Given the description of an element on the screen output the (x, y) to click on. 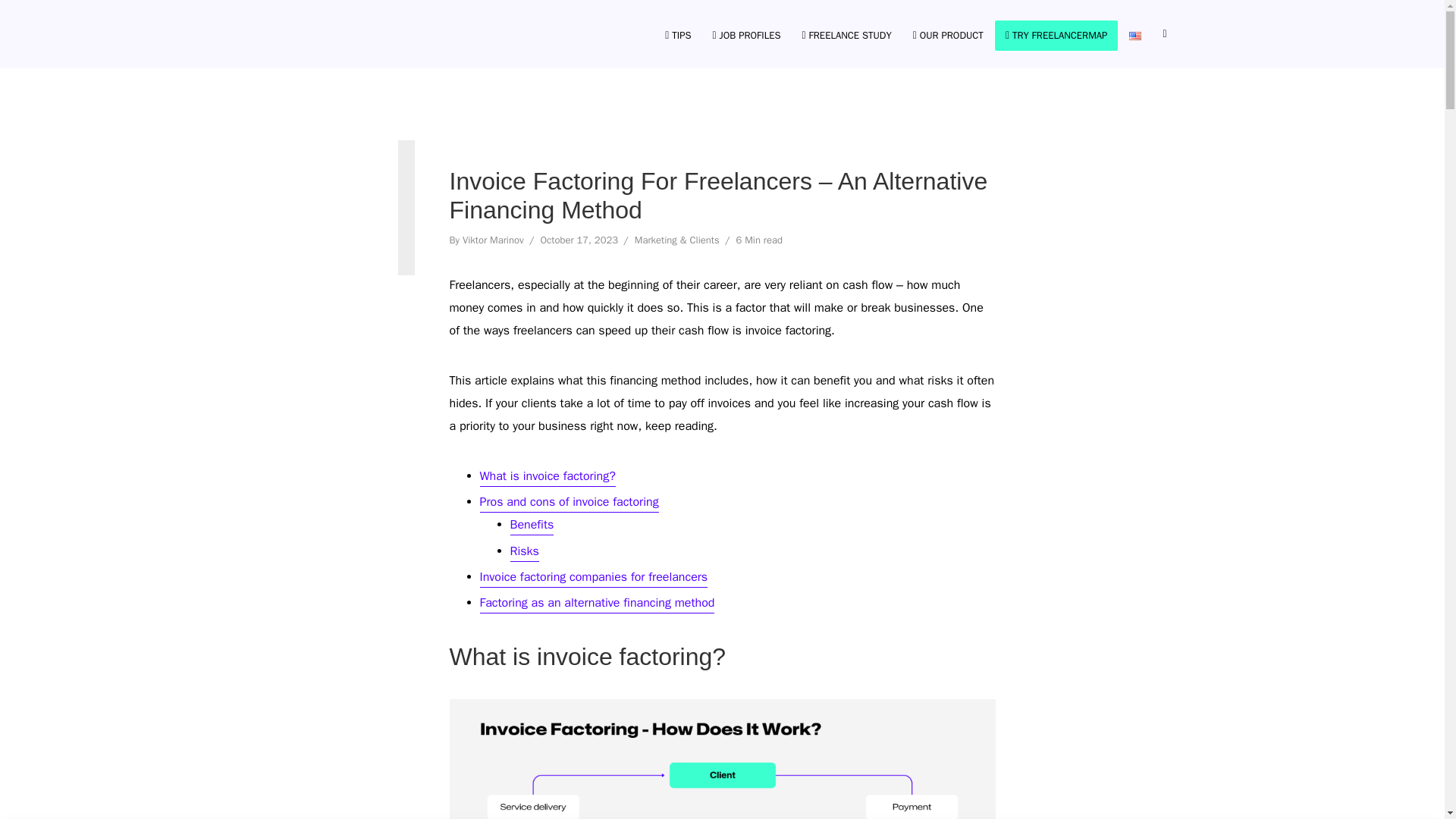
FREELANCE STUDY (847, 34)
Viktor Marinov (493, 241)
OUR PRODUCT (948, 34)
Benefits (531, 525)
TIPS (677, 34)
Pros and cons of invoice factoring (568, 503)
Risks (523, 552)
Invoice factoring companies for freelancers (593, 578)
What is invoice factoring? (546, 477)
TRY FREELANCERMAP (1056, 33)
